Given the description of an element on the screen output the (x, y) to click on. 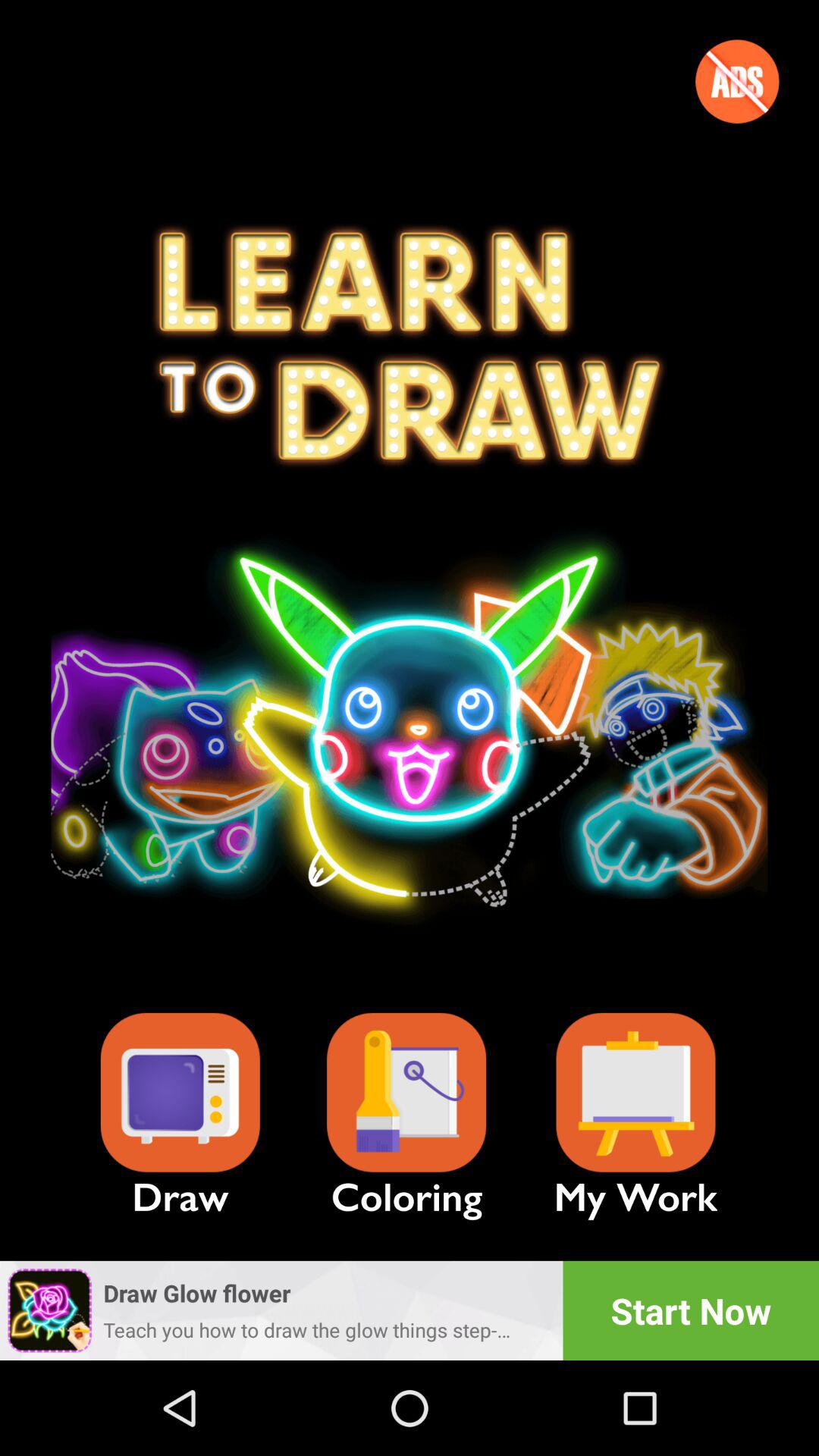
view the image completed so for (635, 1092)
